Given the description of an element on the screen output the (x, y) to click on. 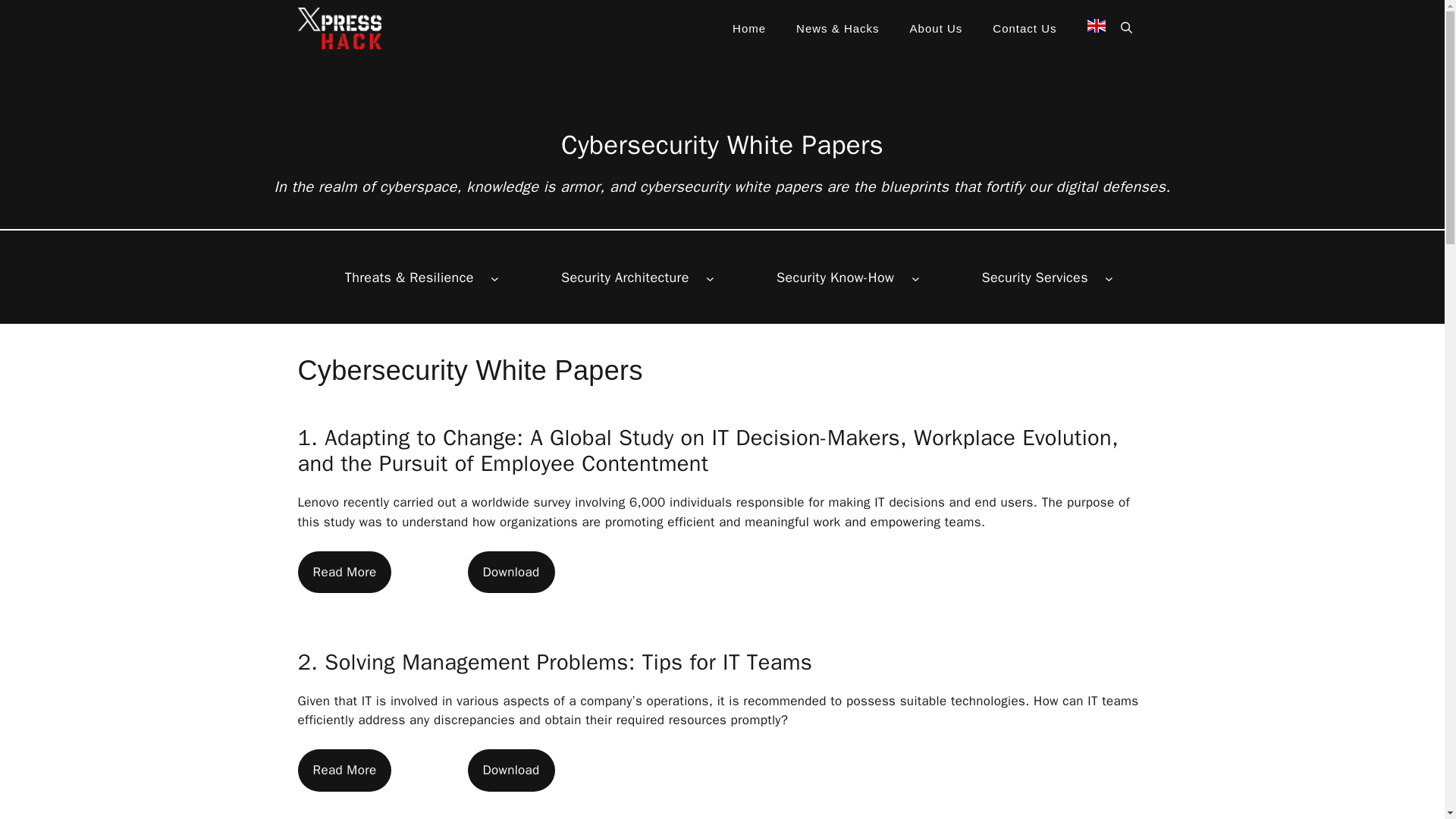
Home (748, 28)
About Us (936, 28)
Contact Us (1023, 28)
Xpress Hack (338, 28)
